Given the description of an element on the screen output the (x, y) to click on. 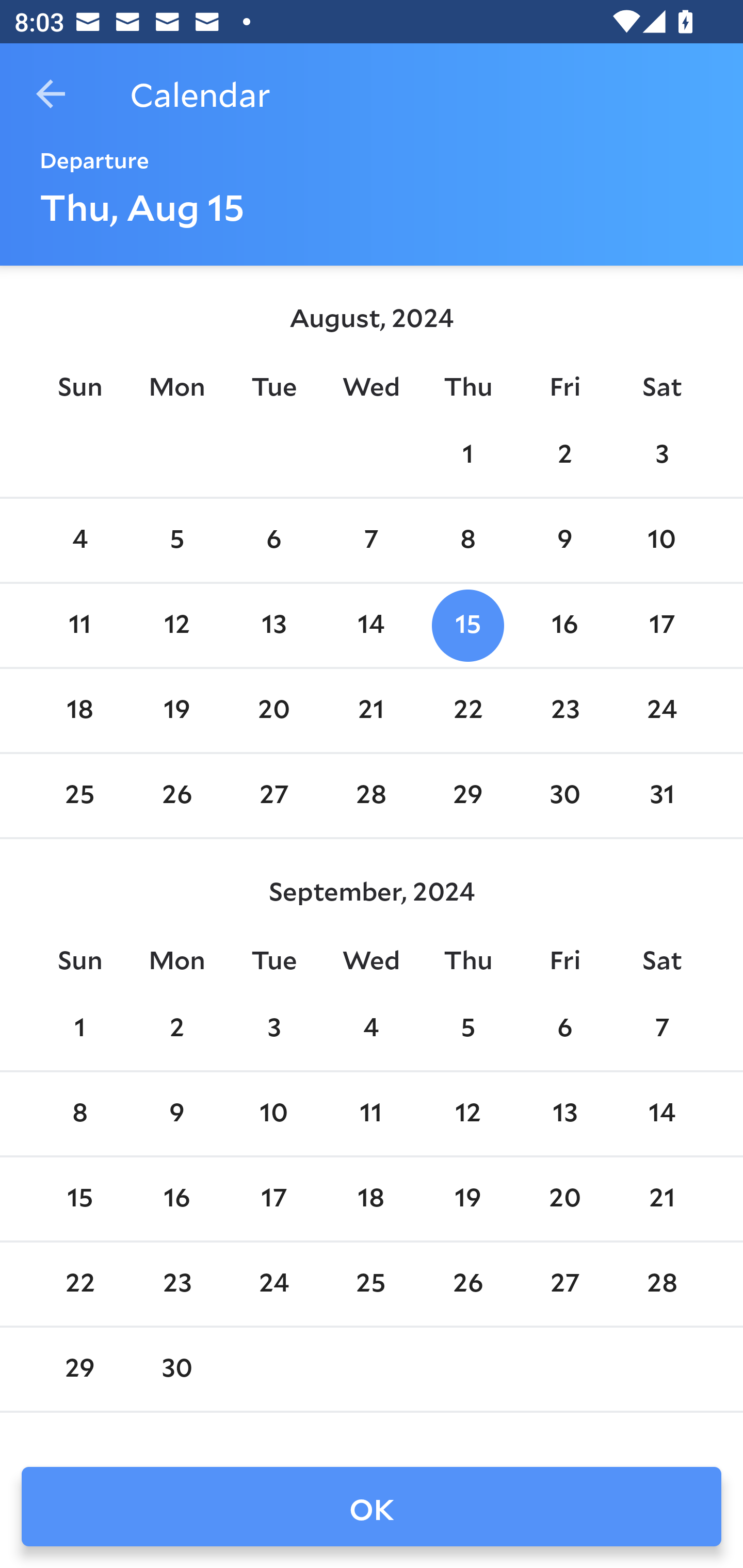
Navigate up (50, 93)
1 (467, 454)
2 (565, 454)
3 (661, 454)
4 (79, 540)
5 (177, 540)
6 (273, 540)
7 (371, 540)
8 (467, 540)
9 (565, 540)
10 (661, 540)
11 (79, 625)
12 (177, 625)
13 (273, 625)
14 (371, 625)
15 (467, 625)
16 (565, 625)
17 (661, 625)
18 (79, 710)
19 (177, 710)
20 (273, 710)
21 (371, 710)
22 (467, 710)
23 (565, 710)
24 (661, 710)
25 (79, 796)
26 (177, 796)
27 (273, 796)
28 (371, 796)
29 (467, 796)
30 (565, 796)
31 (661, 796)
1 (79, 1028)
2 (177, 1028)
3 (273, 1028)
4 (371, 1028)
5 (467, 1028)
6 (565, 1028)
7 (661, 1028)
8 (79, 1114)
9 (177, 1114)
10 (273, 1114)
11 (371, 1114)
12 (467, 1114)
13 (565, 1114)
14 (661, 1114)
15 (79, 1199)
16 (177, 1199)
17 (273, 1199)
18 (371, 1199)
19 (467, 1199)
20 (565, 1199)
21 (661, 1199)
22 (79, 1284)
23 (177, 1284)
24 (273, 1284)
25 (371, 1284)
26 (467, 1284)
27 (565, 1284)
28 (661, 1284)
29 (79, 1368)
30 (177, 1368)
OK (371, 1506)
